Given the description of an element on the screen output the (x, y) to click on. 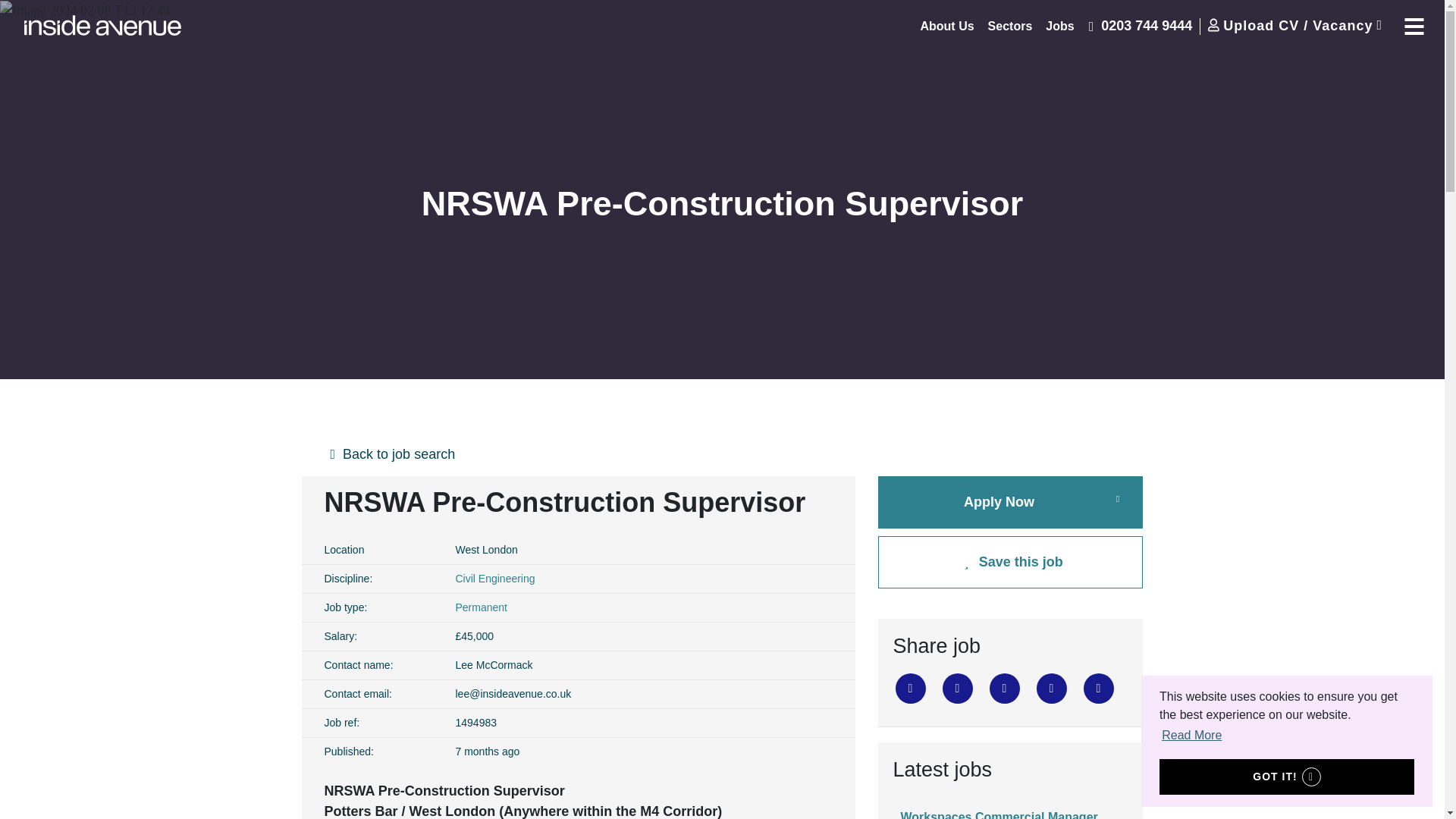
share on LinkedIn (1003, 688)
Tweet this (909, 688)
Email (1050, 688)
send in Whatsapp (1098, 688)
share on Facebook (957, 688)
Read More (1191, 734)
GOT IT! (1285, 776)
